Given the description of an element on the screen output the (x, y) to click on. 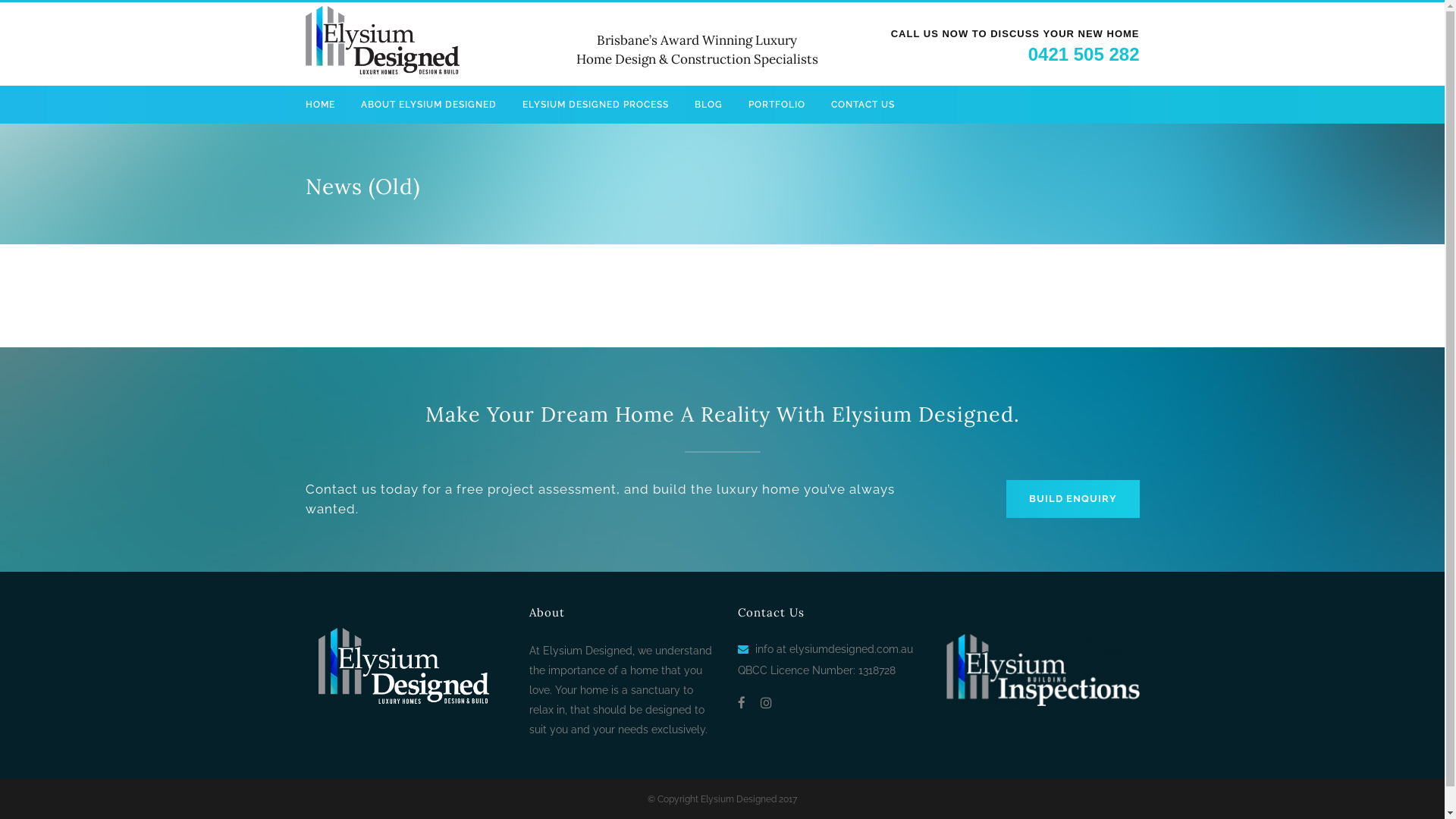
PORTFOLIO Element type: text (776, 104)
CONTACT US Element type: text (861, 104)
BLOG Element type: text (707, 104)
HOME Element type: text (325, 104)
ELYSIUM DESIGNED PROCESS Element type: text (595, 104)
0421 505 282 Element type: text (1083, 53)
ABOUT ELYSIUM DESIGNED Element type: text (427, 104)
BUILD ENQUIRY Element type: text (1072, 498)
